Given the description of an element on the screen output the (x, y) to click on. 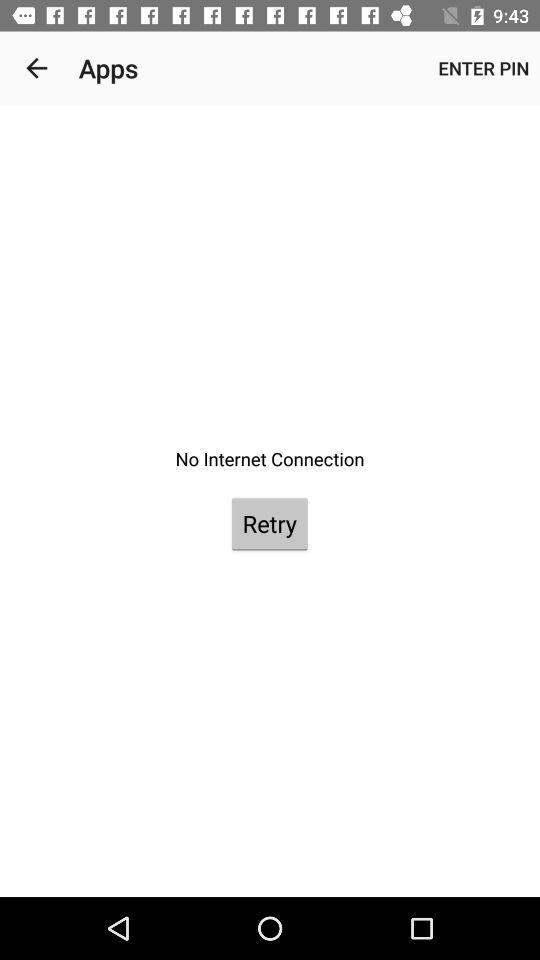
swipe to the enter pin item (483, 67)
